Given the description of an element on the screen output the (x, y) to click on. 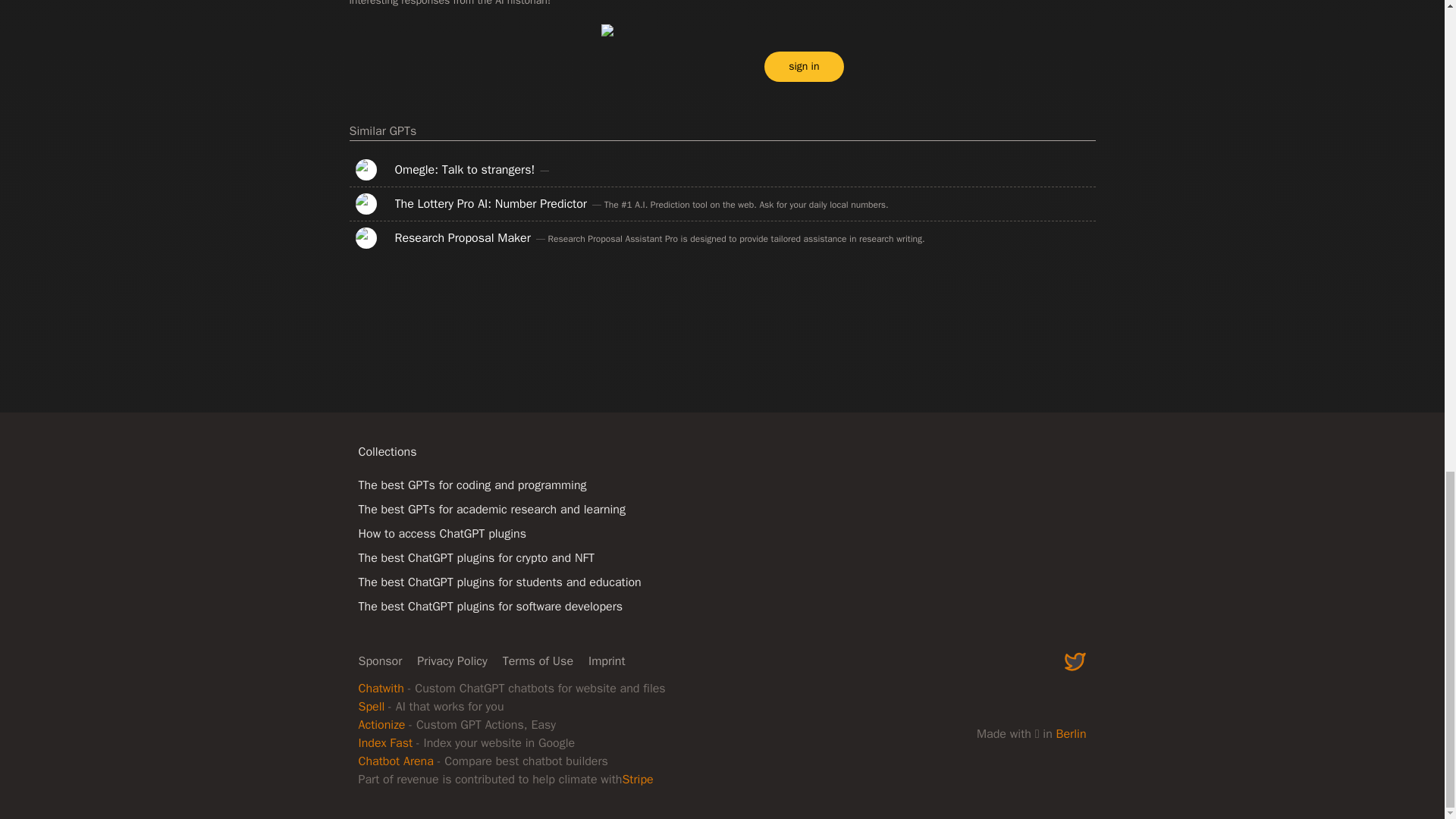
How to access ChatGPT plugins (441, 533)
Chatbot Arena (395, 761)
Stripe (636, 779)
Terms of Use (537, 661)
Spell (371, 706)
Index Fast (385, 743)
The best ChatGPT plugins for crypto and NFT (476, 557)
Chatwith (380, 688)
Privacy Policy (451, 661)
Actionize (381, 724)
The best ChatGPT plugins for students and education (499, 581)
Sponsor (379, 661)
The best GPTs for coding and programming (472, 485)
The best GPTs for academic research and learning (491, 509)
The best ChatGPT plugins for software developers (490, 606)
